Given the description of an element on the screen output the (x, y) to click on. 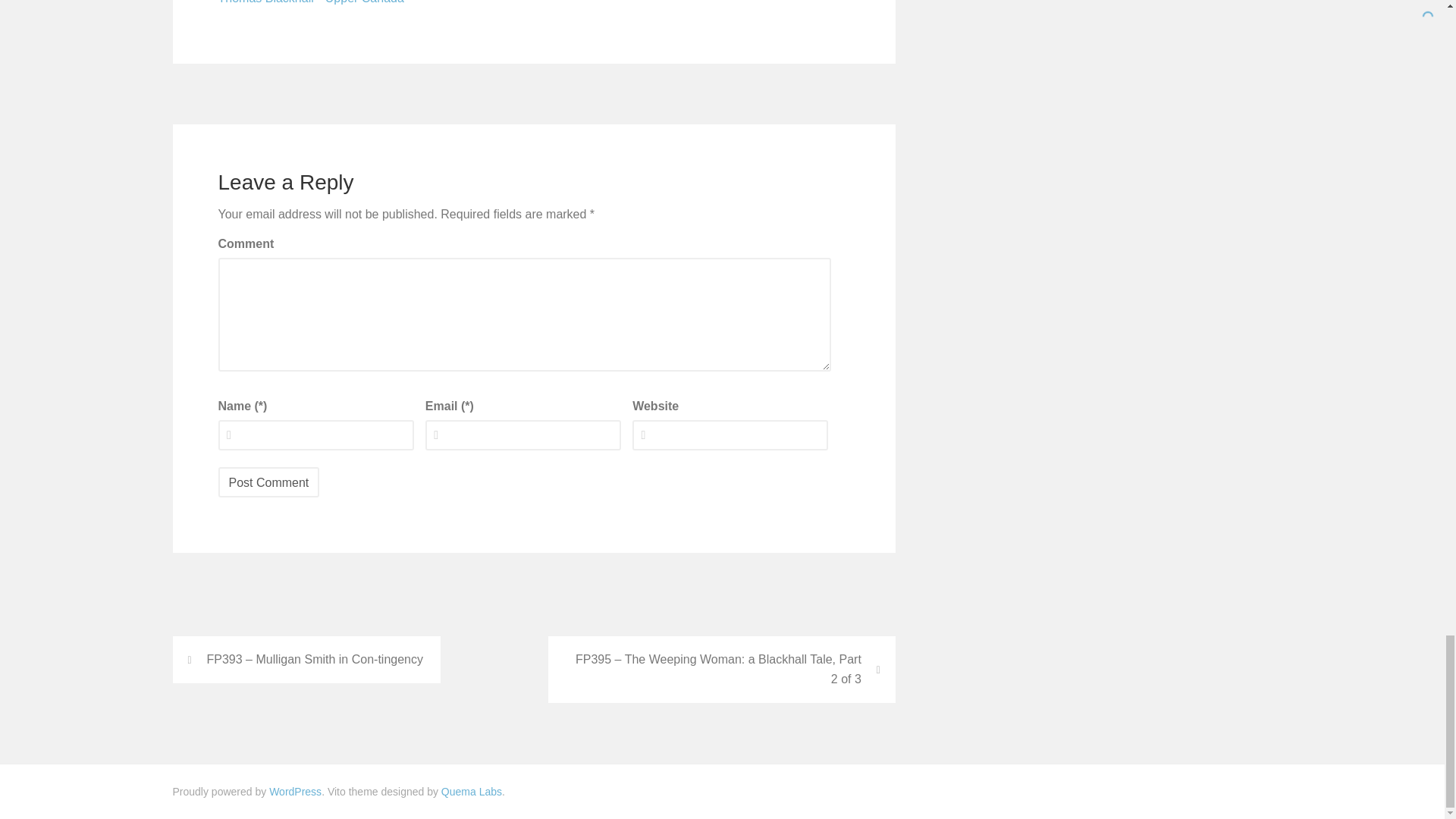
Upper Canada (364, 4)
Post Comment (269, 481)
Thomas Blackhall (266, 4)
Post Comment (269, 481)
